Given the description of an element on the screen output the (x, y) to click on. 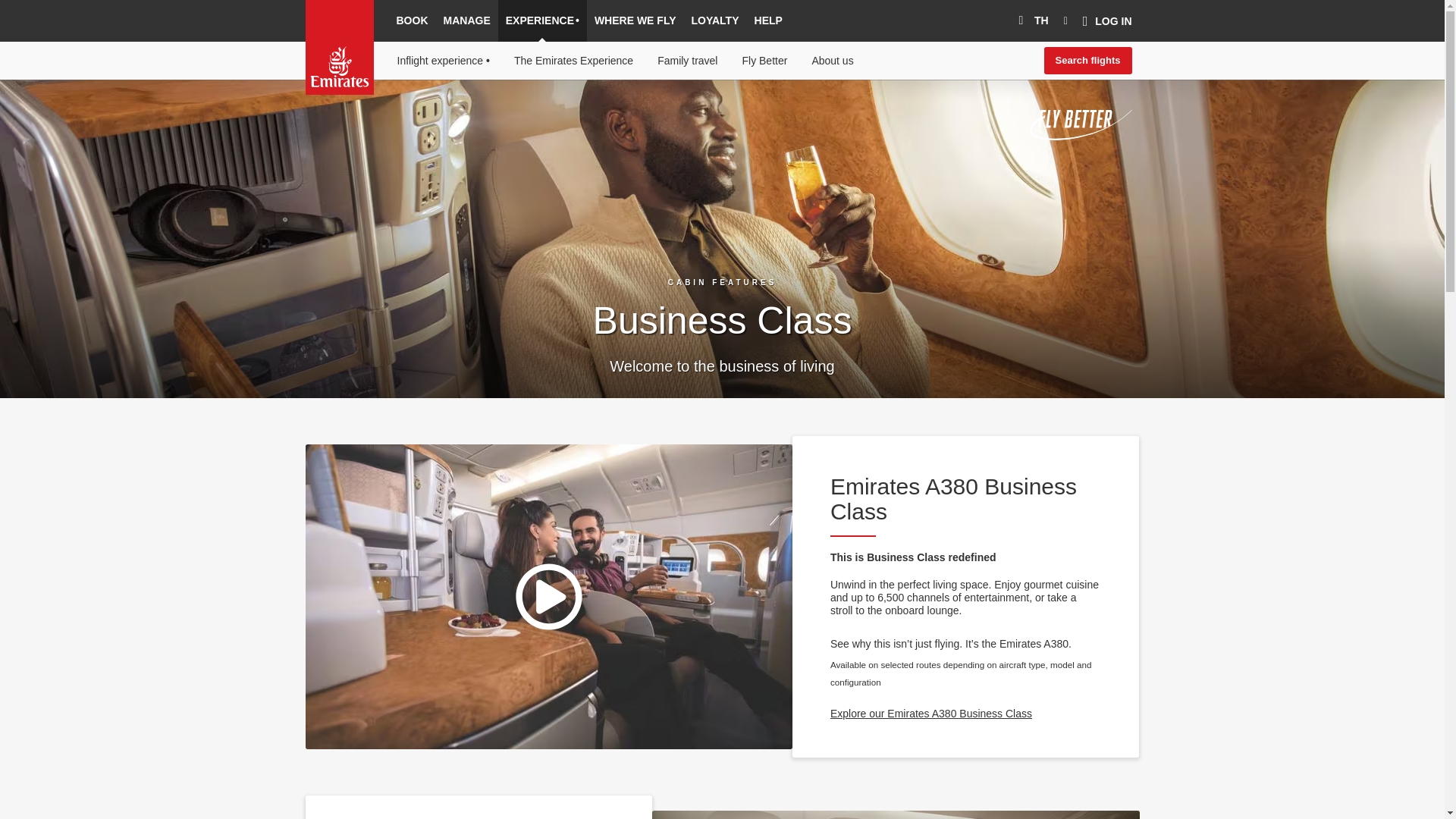
Accessibility information (383, 116)
Fly better logo (1080, 124)
Search flights (1087, 60)
MANAGE (466, 20)
SEARCH (1066, 20)
WHERE WE FLY (635, 20)
LOG IN (1107, 20)
LOYALTY (715, 20)
HELP (768, 20)
Skip to the main content (382, 116)
BOOK (411, 20)
TH (1030, 20)
